Given the description of an element on the screen output the (x, y) to click on. 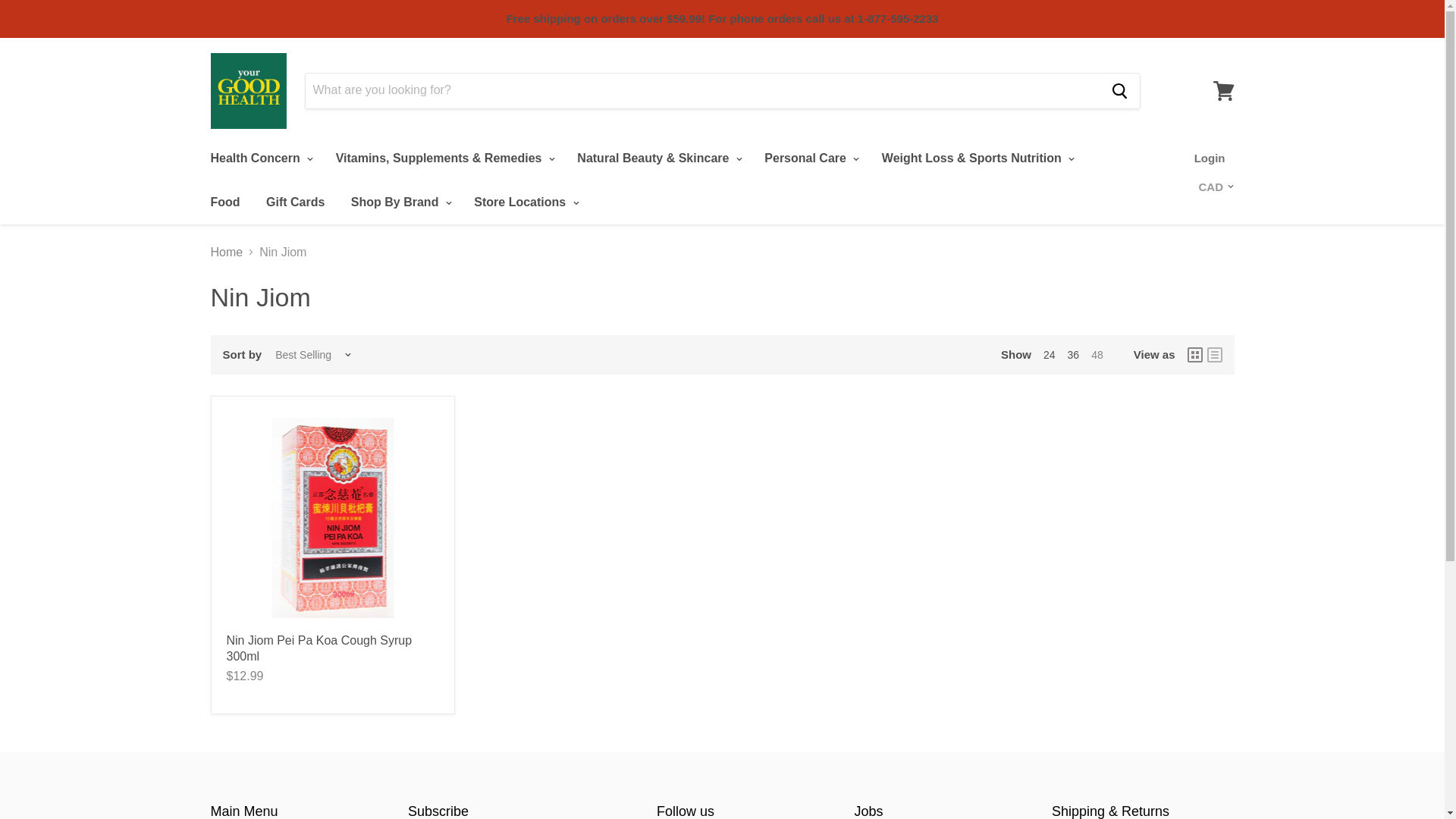
Health Concern (259, 158)
View cart (1223, 89)
